Given the description of an element on the screen output the (x, y) to click on. 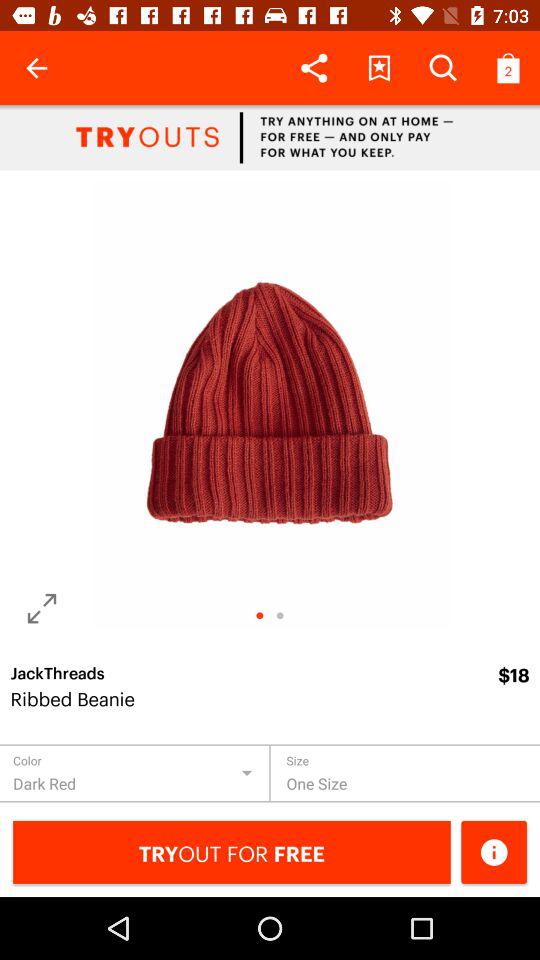
see additional information about this product (493, 851)
